Given the description of an element on the screen output the (x, y) to click on. 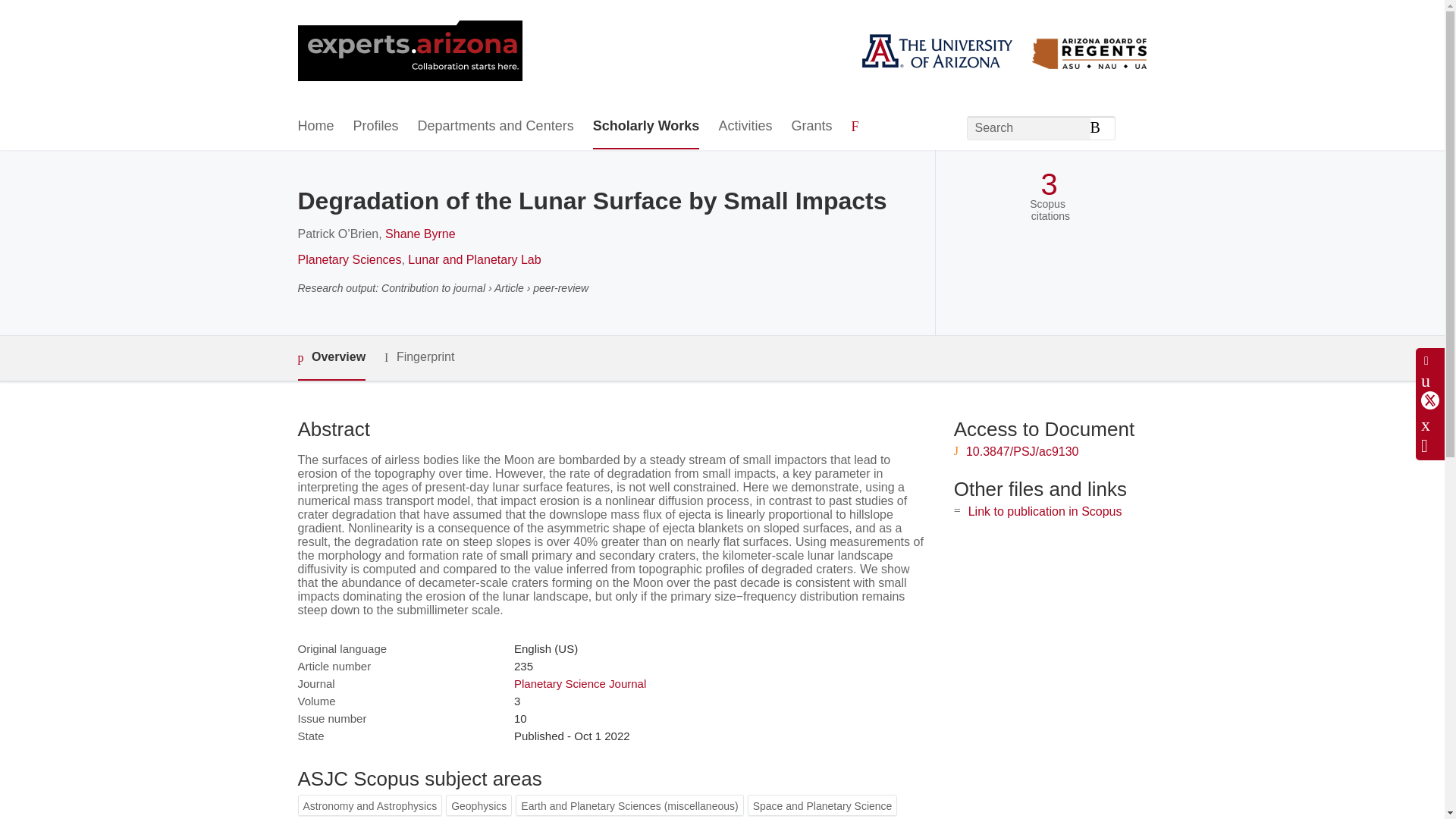
Grants (810, 126)
Link to publication in Scopus (1045, 511)
University of Arizona Home (409, 52)
Shane Byrne (420, 233)
Activities (744, 126)
Profiles (375, 126)
Planetary Sciences (349, 259)
Lunar and Planetary Lab (473, 259)
Departments and Centers (495, 126)
